Given the description of an element on the screen output the (x, y) to click on. 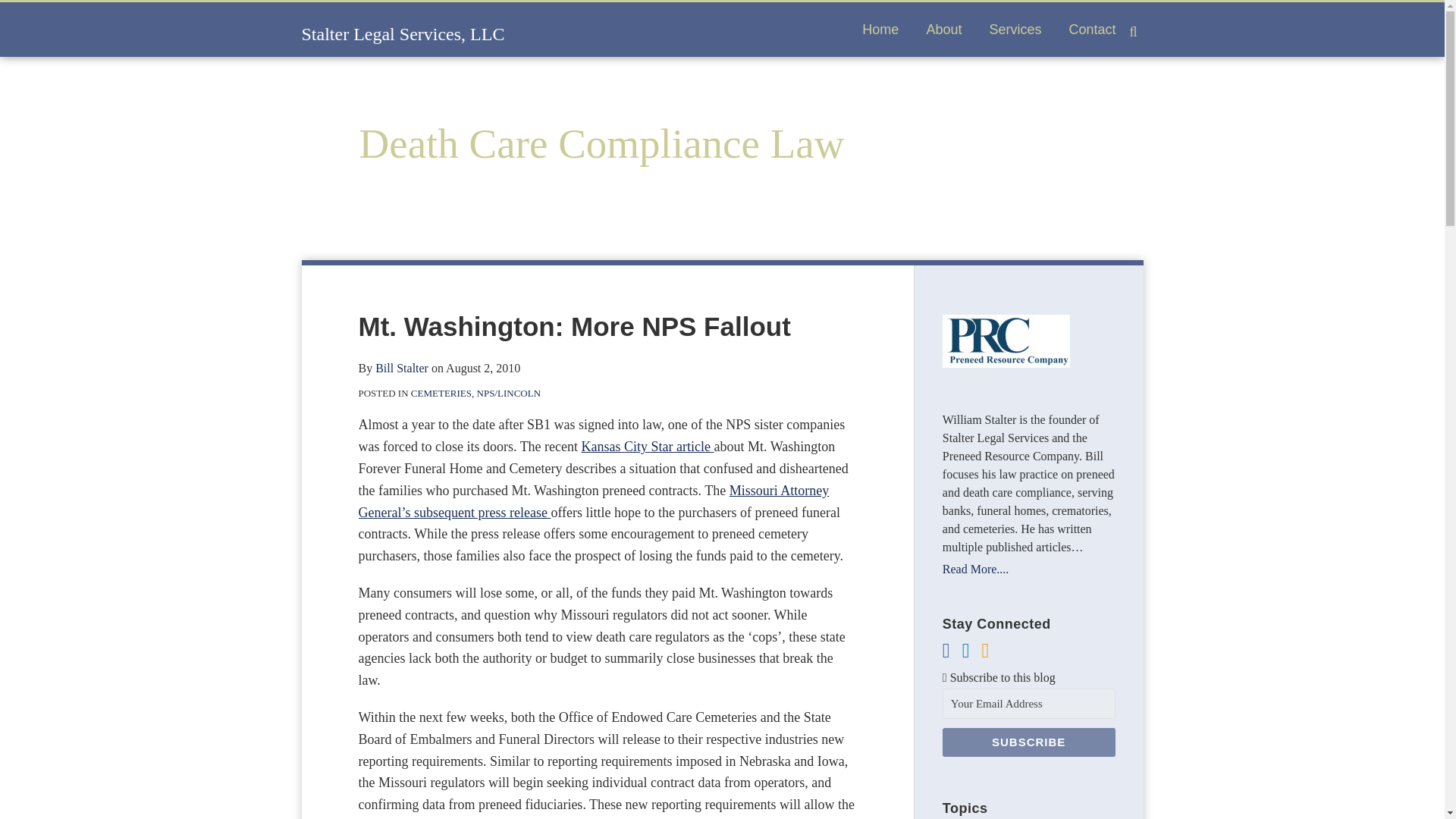
Bill Stalter (401, 367)
Stalter Legal Services, LLC (403, 34)
Kansas City Star article (647, 446)
Contact (1091, 29)
CEMETERIES (440, 392)
About (943, 29)
Read More.... (1028, 569)
Home (879, 29)
Death Care Compliance Law (601, 143)
Subscribe (1028, 742)
